Given the description of an element on the screen output the (x, y) to click on. 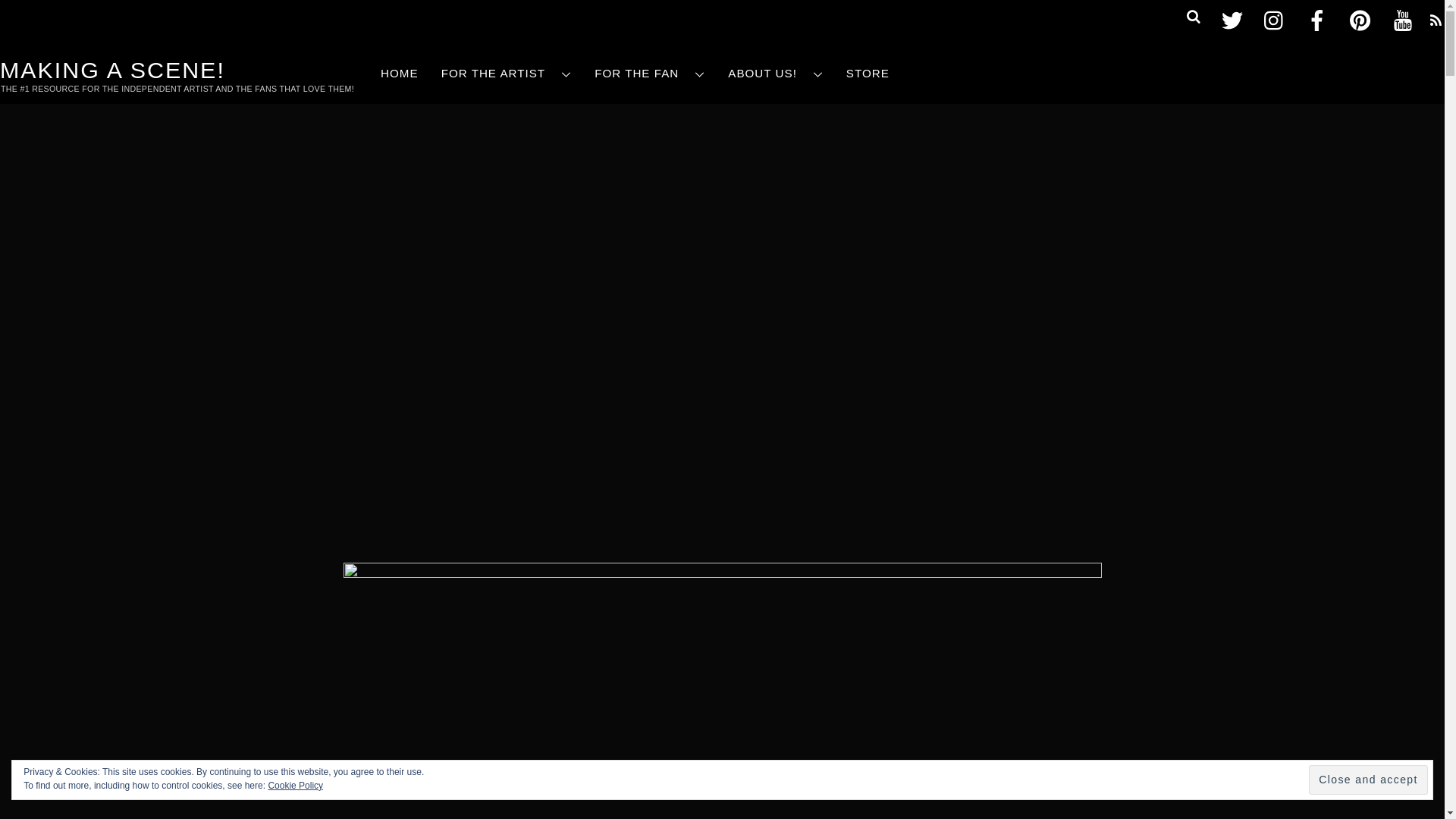
ABOUT US! (775, 74)
FOR THE ARTIST (506, 74)
HOME (399, 74)
MAKING A SCENE! (112, 69)
STORE (867, 74)
FOR THE FAN (649, 74)
Making A Scene! (112, 69)
Close and accept (1368, 779)
